Given the description of an element on the screen output the (x, y) to click on. 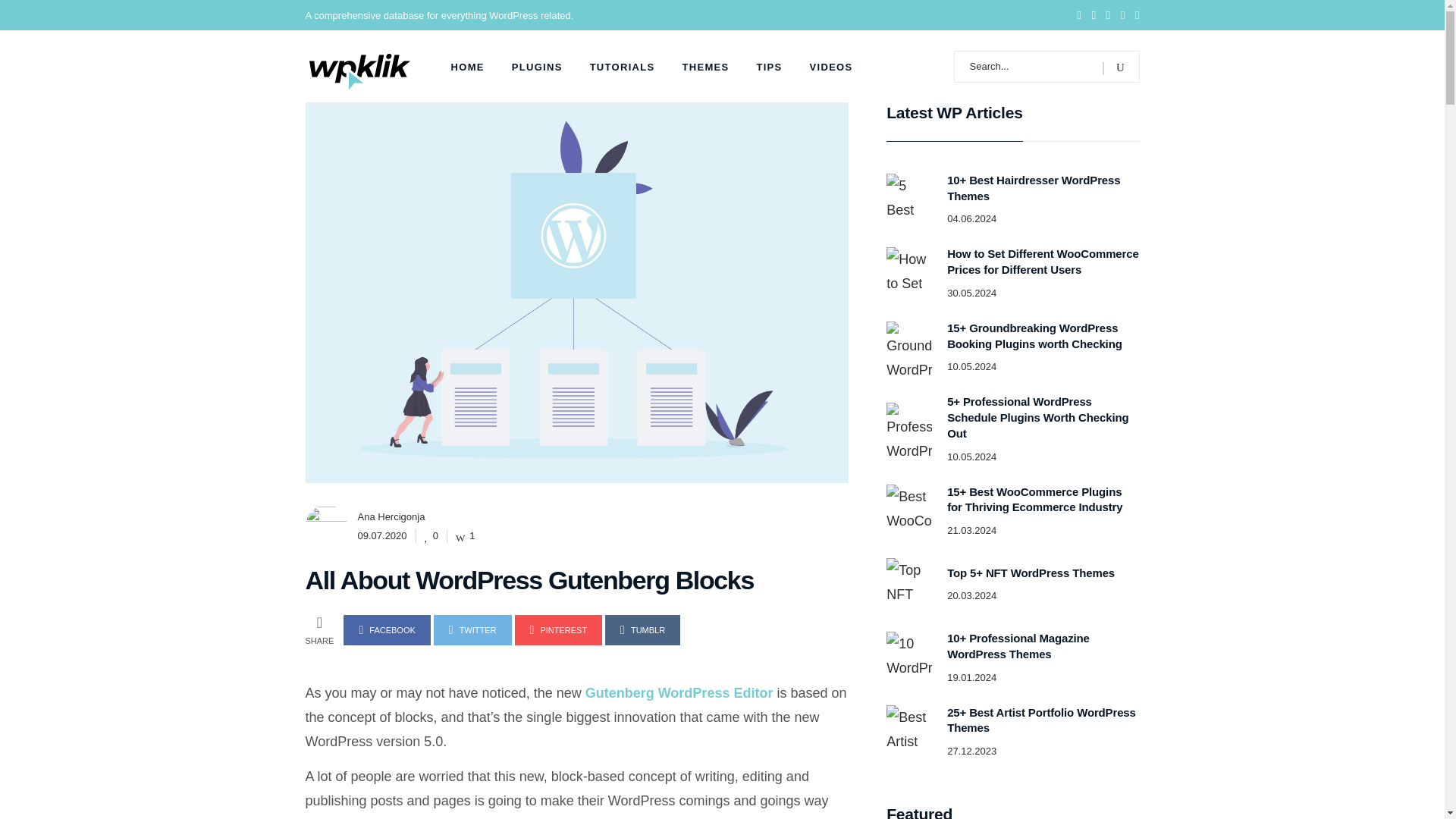
THEMES (705, 66)
0 (431, 535)
HOME (467, 66)
TWITTER (472, 630)
Search for: (1046, 65)
TIPS (768, 66)
TUMBLR (642, 630)
Ana Hercigonja (391, 516)
TUTORIALS (622, 66)
09.07.2020 (382, 535)
DOWNLOAD NOW (1280, 696)
PLUGINS (536, 66)
Like this (465, 535)
PINTEREST (558, 630)
